Given the description of an element on the screen output the (x, y) to click on. 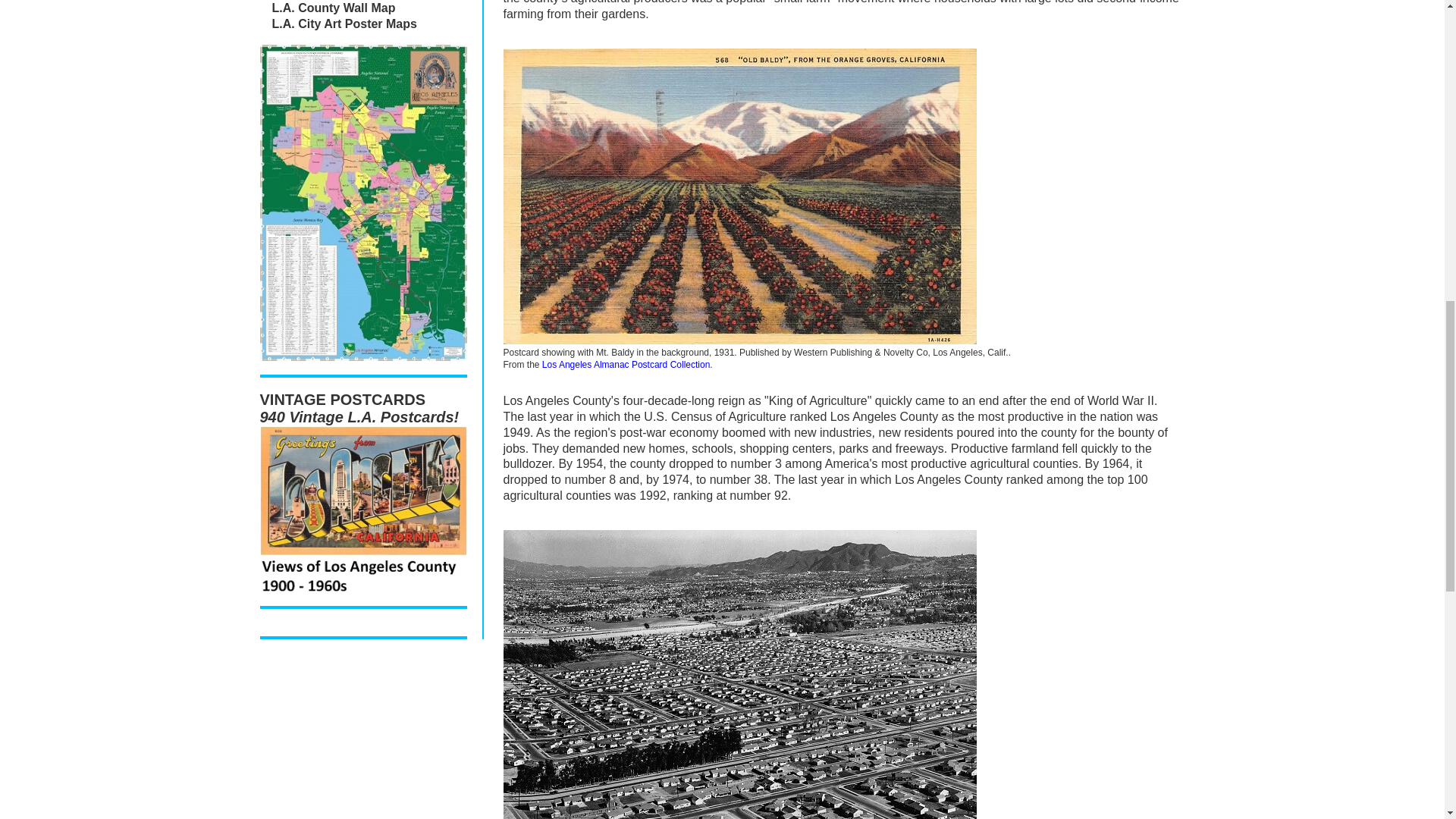
Vintage Postcards (362, 508)
